Given the description of an element on the screen output the (x, y) to click on. 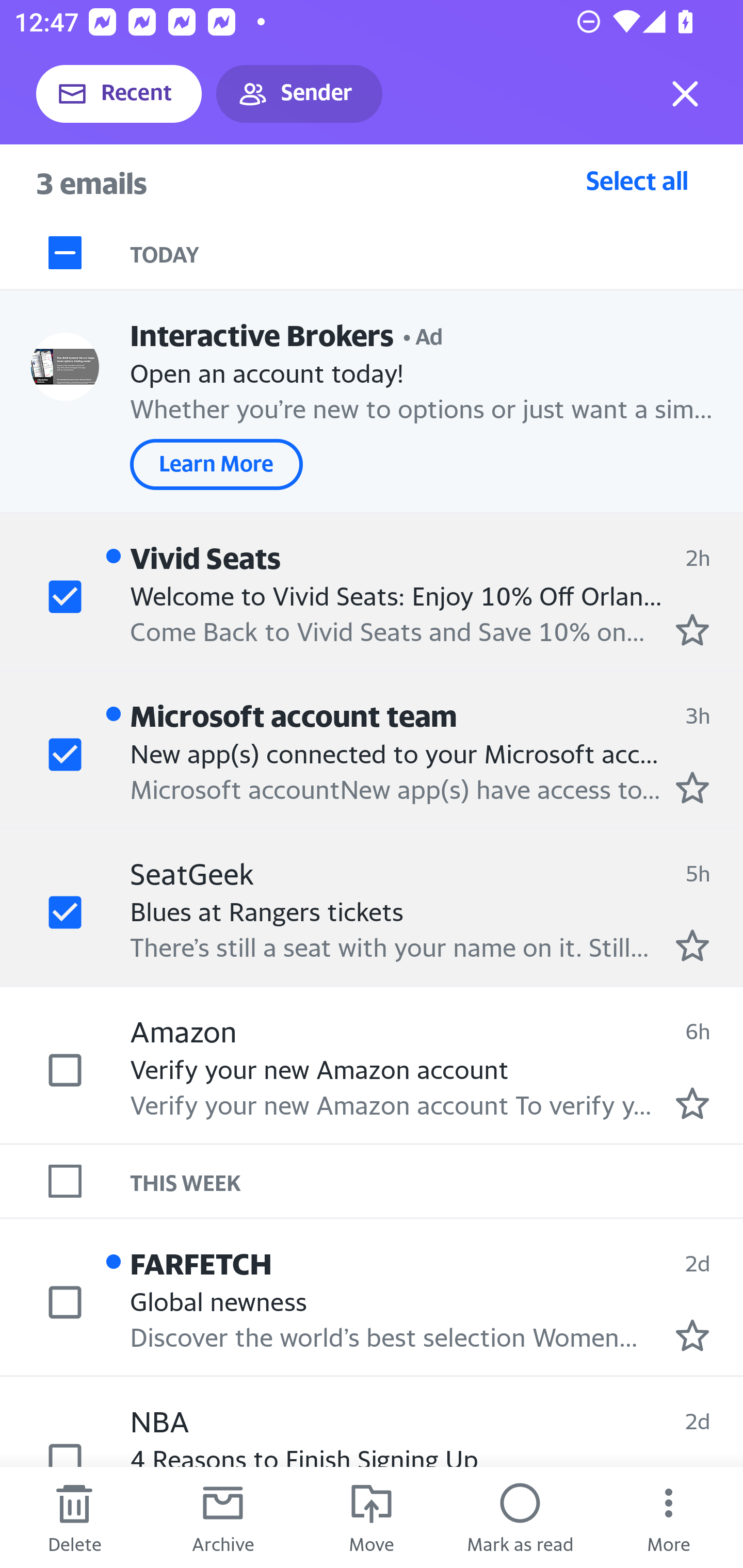
Sender (299, 93)
Exit selection mode (684, 93)
Select all (637, 180)
TODAY (436, 252)
Mark as starred. (692, 629)
Mark as starred. (692, 787)
Mark as starred. (692, 944)
Mark as starred. (692, 1103)
THIS WEEK (436, 1181)
Mark as starred. (692, 1335)
Delete (74, 1517)
Archive (222, 1517)
Move (371, 1517)
Mark as read (519, 1517)
More (668, 1517)
